Given the description of an element on the screen output the (x, y) to click on. 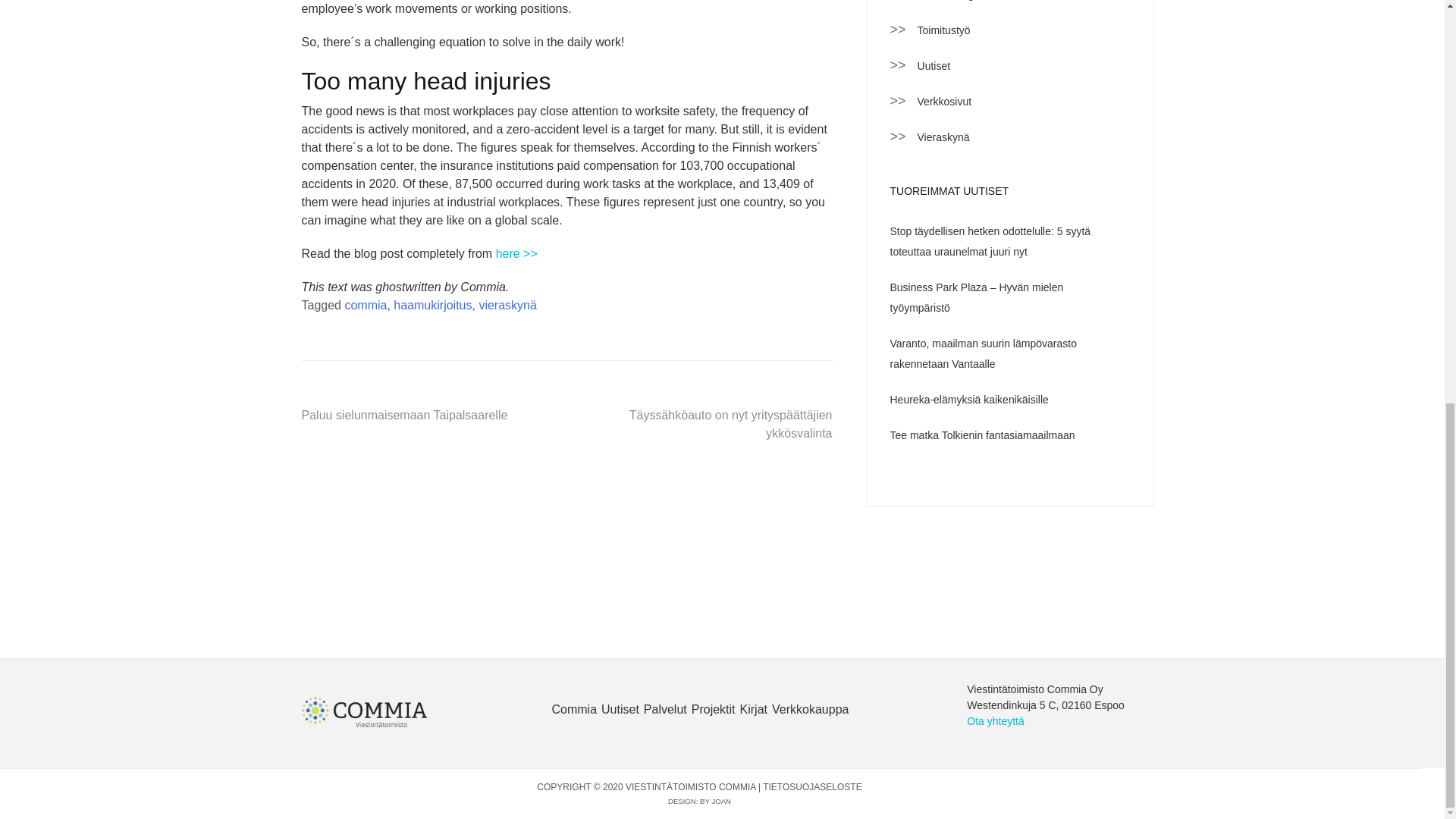
Uutiset (936, 64)
commia (365, 305)
haamukirjoitus (432, 305)
Verkkosivut (946, 99)
Paluu sielunmaisemaan Taipalsaarelle (404, 414)
